Given the description of an element on the screen output the (x, y) to click on. 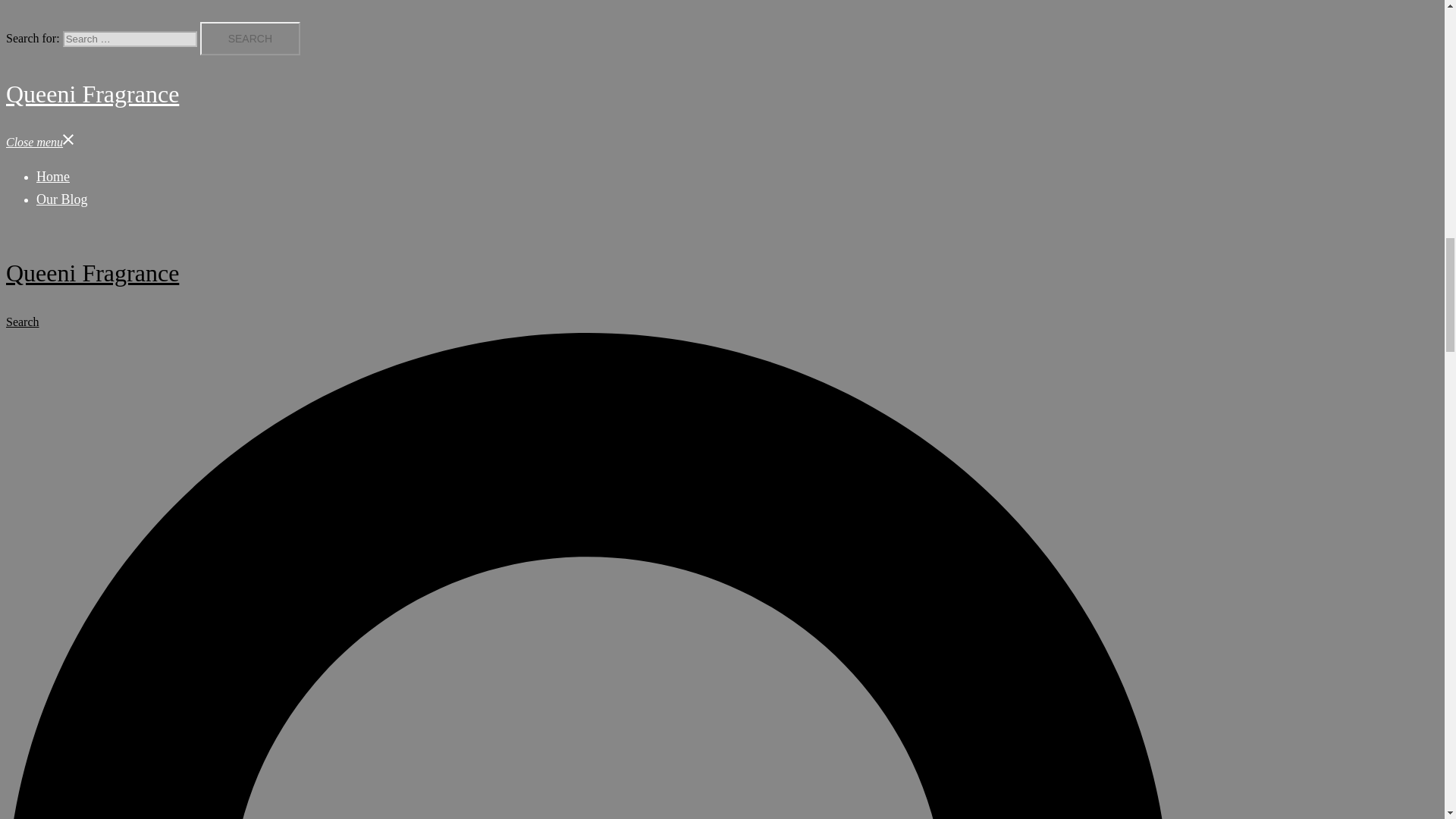
Queeni Fragrance (92, 93)
Close menu (40, 141)
Our Blog (61, 199)
Search (249, 38)
Search (249, 38)
Queeni Fragrance (92, 272)
Search (249, 38)
Home (52, 176)
